Given the description of an element on the screen output the (x, y) to click on. 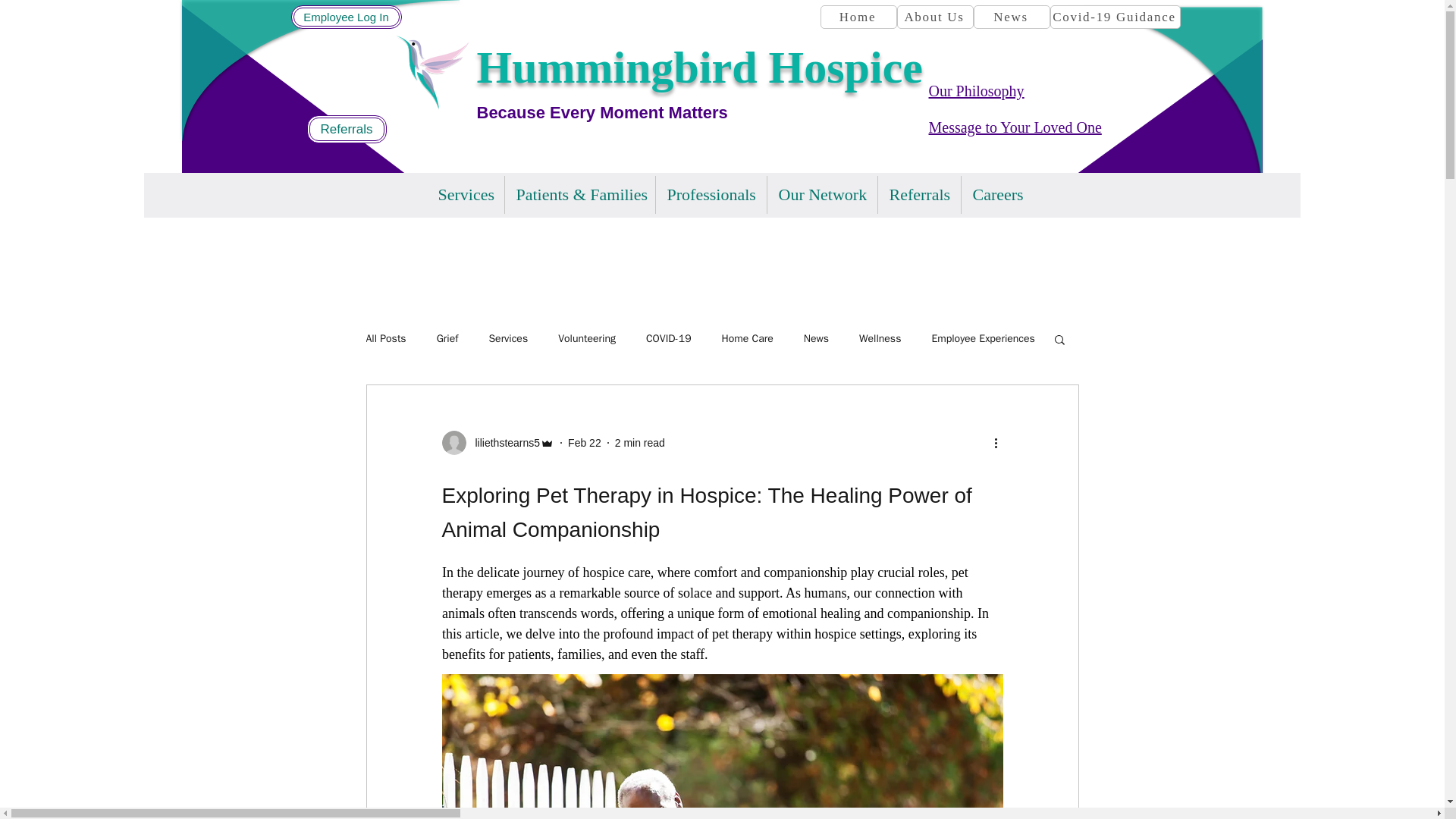
Covid-19 Guidance (1114, 16)
Services (464, 194)
liliethstearns5 (502, 442)
News (1011, 16)
About Us (934, 16)
Professionals (710, 194)
Feb 22 (584, 442)
Employee Log In (346, 16)
Hummingbird Hospice (698, 67)
Our Network (822, 194)
